Given the description of an element on the screen output the (x, y) to click on. 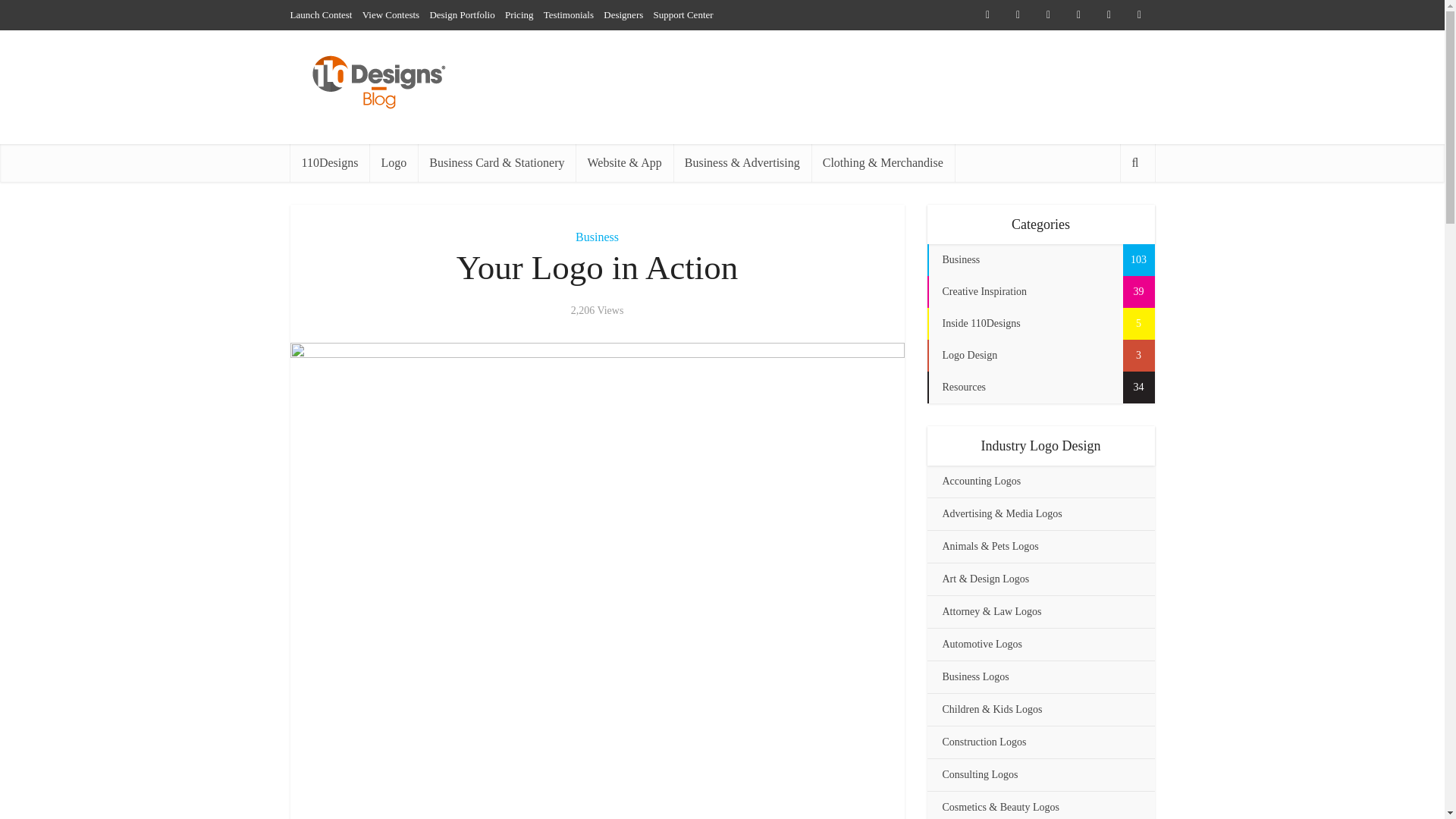
Launch Contest (320, 14)
110Designs Blog (377, 83)
110Designs (329, 162)
Designers (623, 14)
Support Center (683, 14)
Testimonials (568, 14)
Advertisement (597, 799)
View Contests (390, 14)
Pricing (519, 14)
Design Portfolio (462, 14)
